Given the description of an element on the screen output the (x, y) to click on. 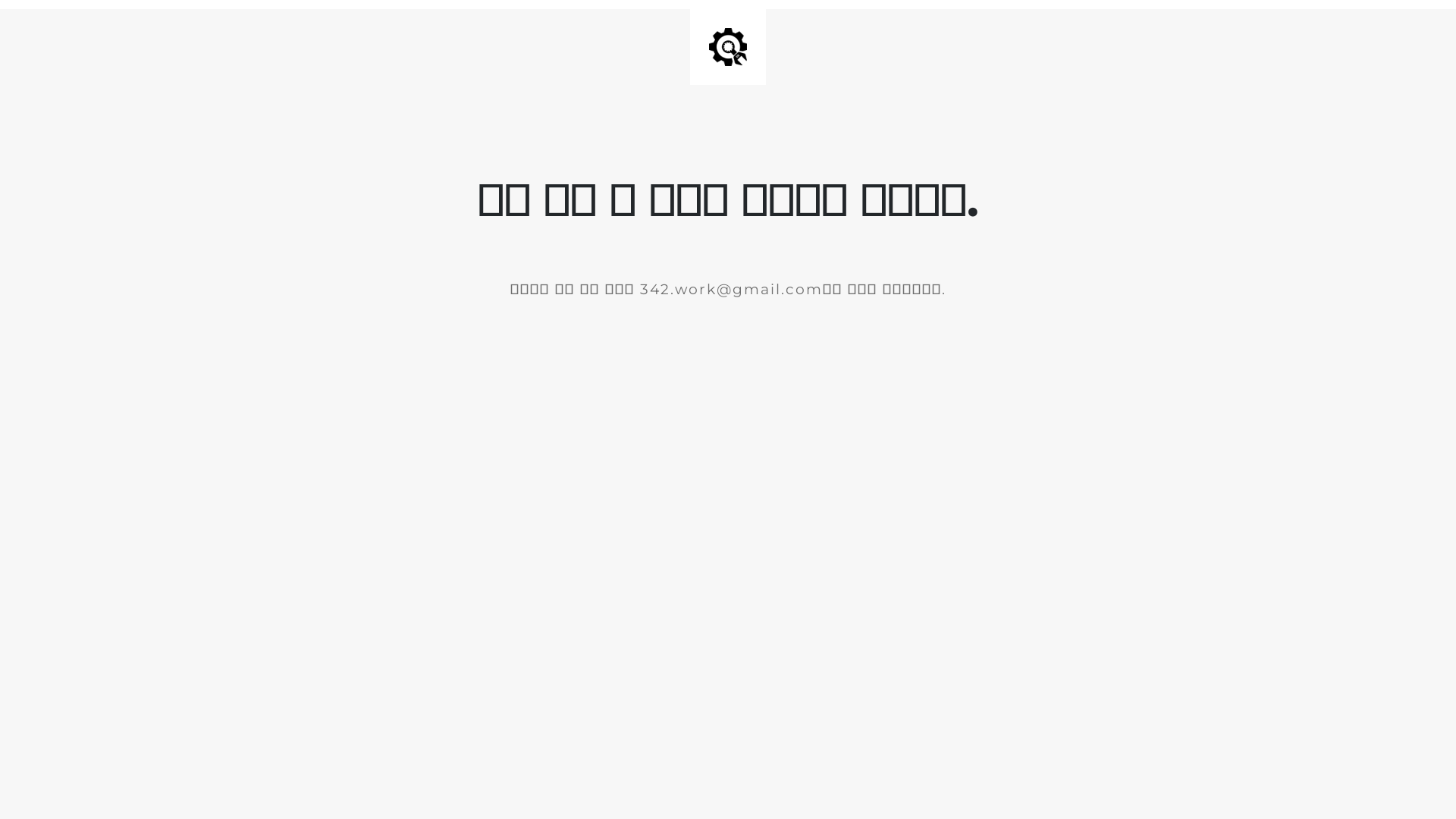
Site is Under Construction Element type: hover (727, 46)
